Given the description of an element on the screen output the (x, y) to click on. 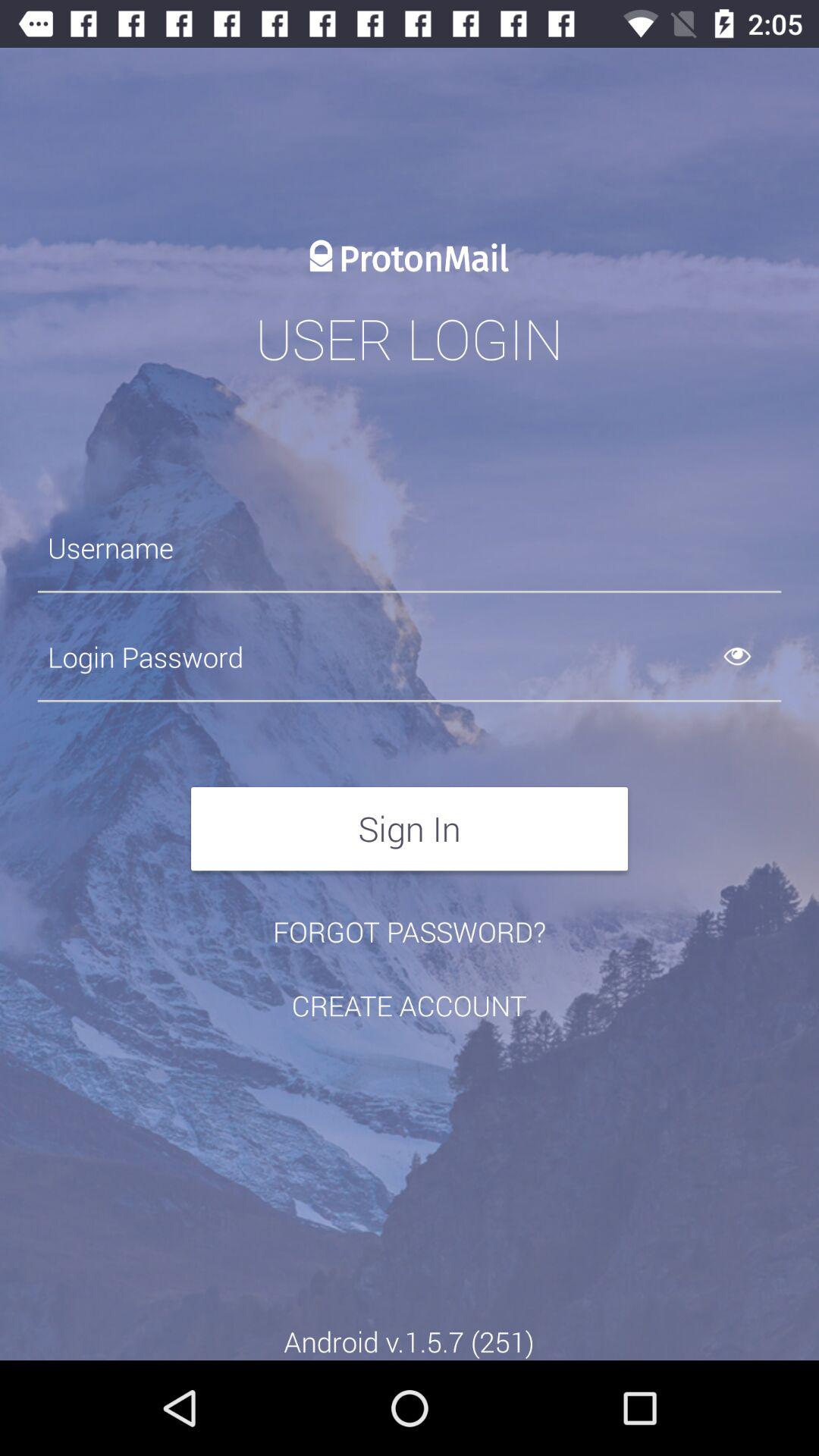
shows the password entered (755, 656)
